Given the description of an element on the screen output the (x, y) to click on. 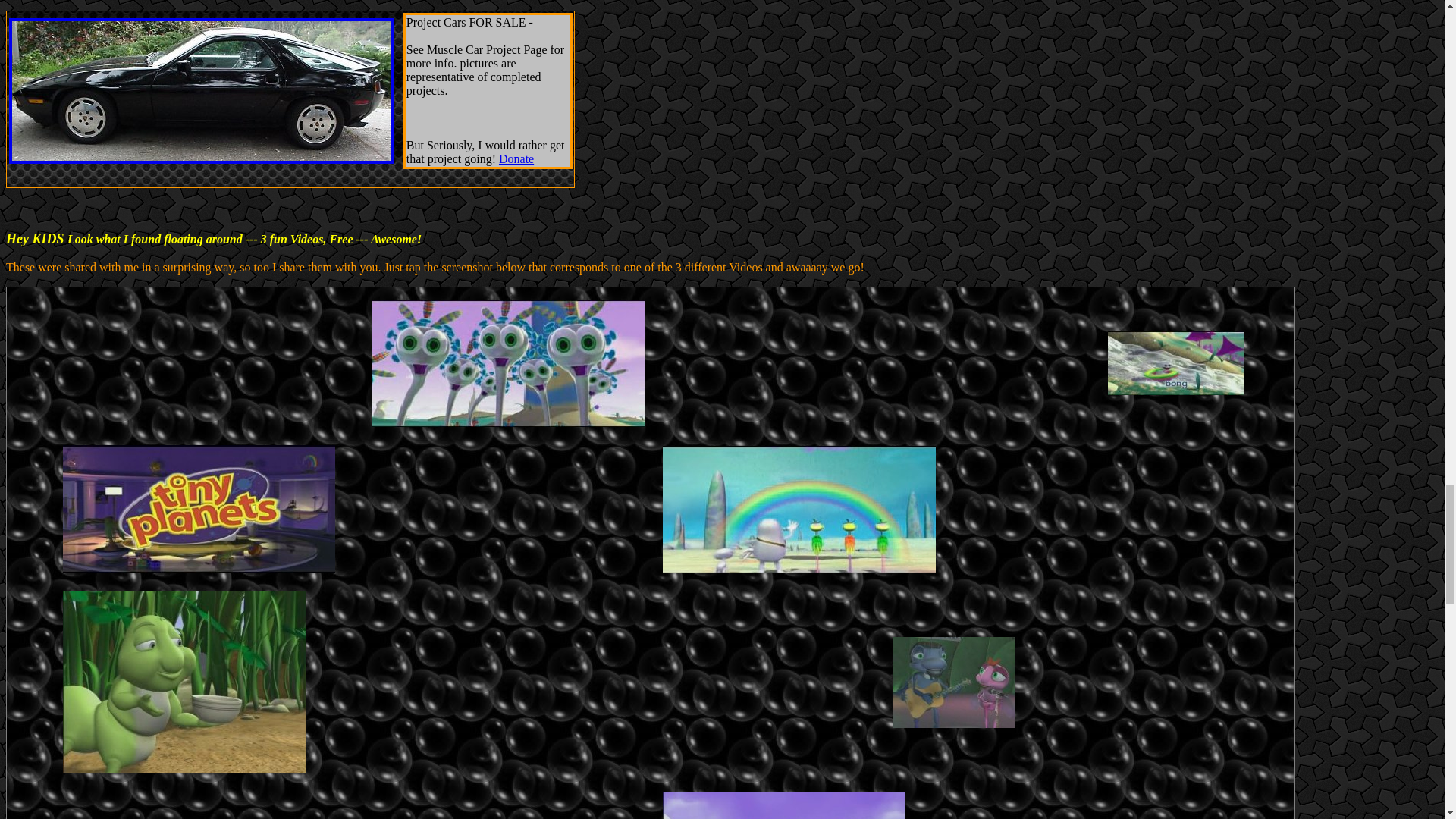
The Truth... (953, 723)
Tiny Planets (198, 568)
Donate (516, 158)
